Given the description of an element on the screen output the (x, y) to click on. 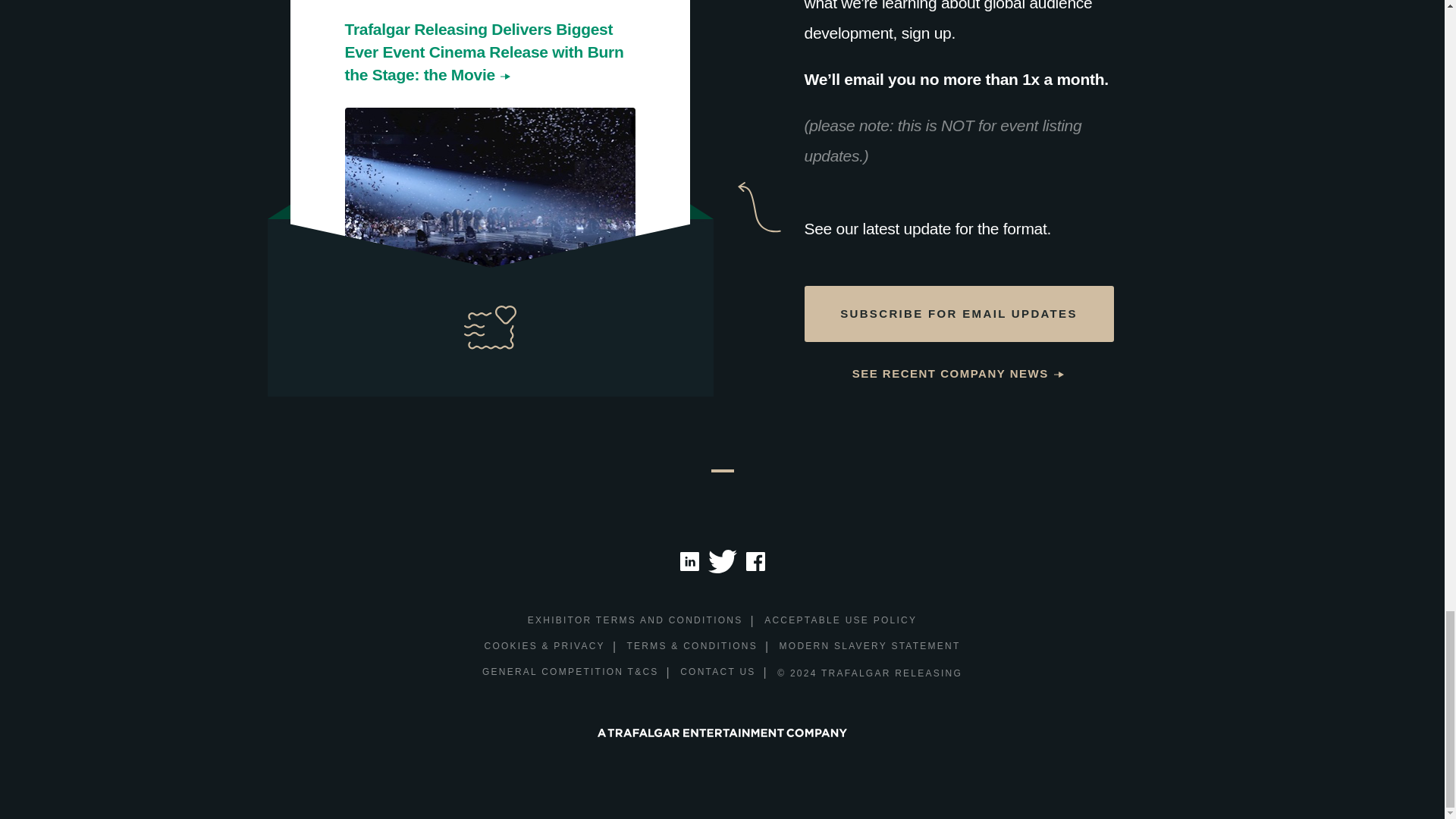
ACCEPTABLE USE POLICY (840, 621)
MODERN SLAVERY STATEMENT (869, 647)
SEE RECENT COMPANY NEWS (958, 374)
CONTACT US (717, 672)
EXHIBITOR TERMS AND CONDITIONS (634, 621)
SUBSCRIBE FOR EMAIL UPDATES (958, 313)
